Given the description of an element on the screen output the (x, y) to click on. 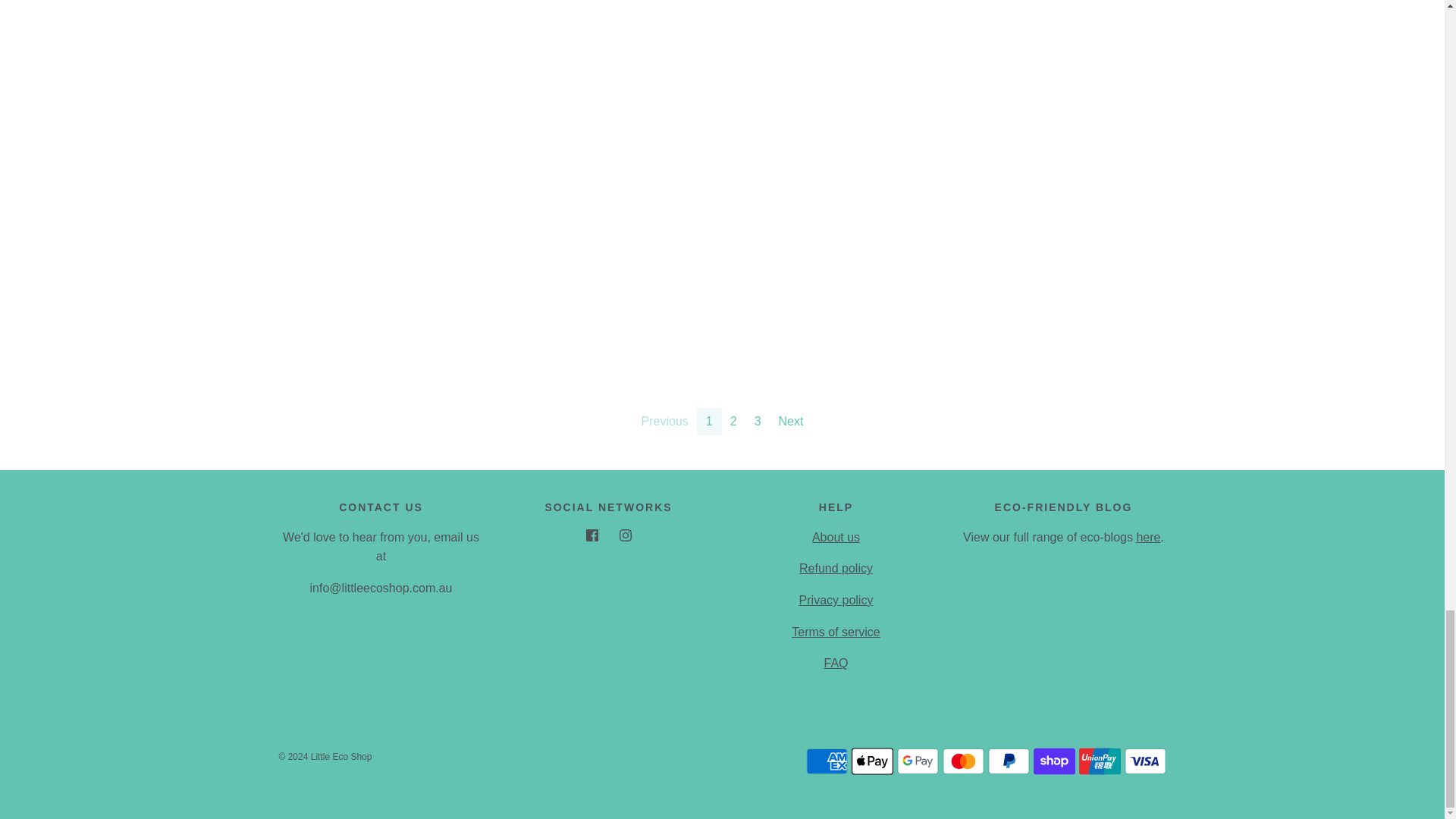
PayPal (1008, 761)
Shop Pay (1053, 761)
Visa (1145, 761)
Apple Pay (871, 761)
Google Pay (916, 761)
Mastercard (963, 761)
Union Pay (1098, 761)
American Express (826, 761)
